Given the description of an element on the screen output the (x, y) to click on. 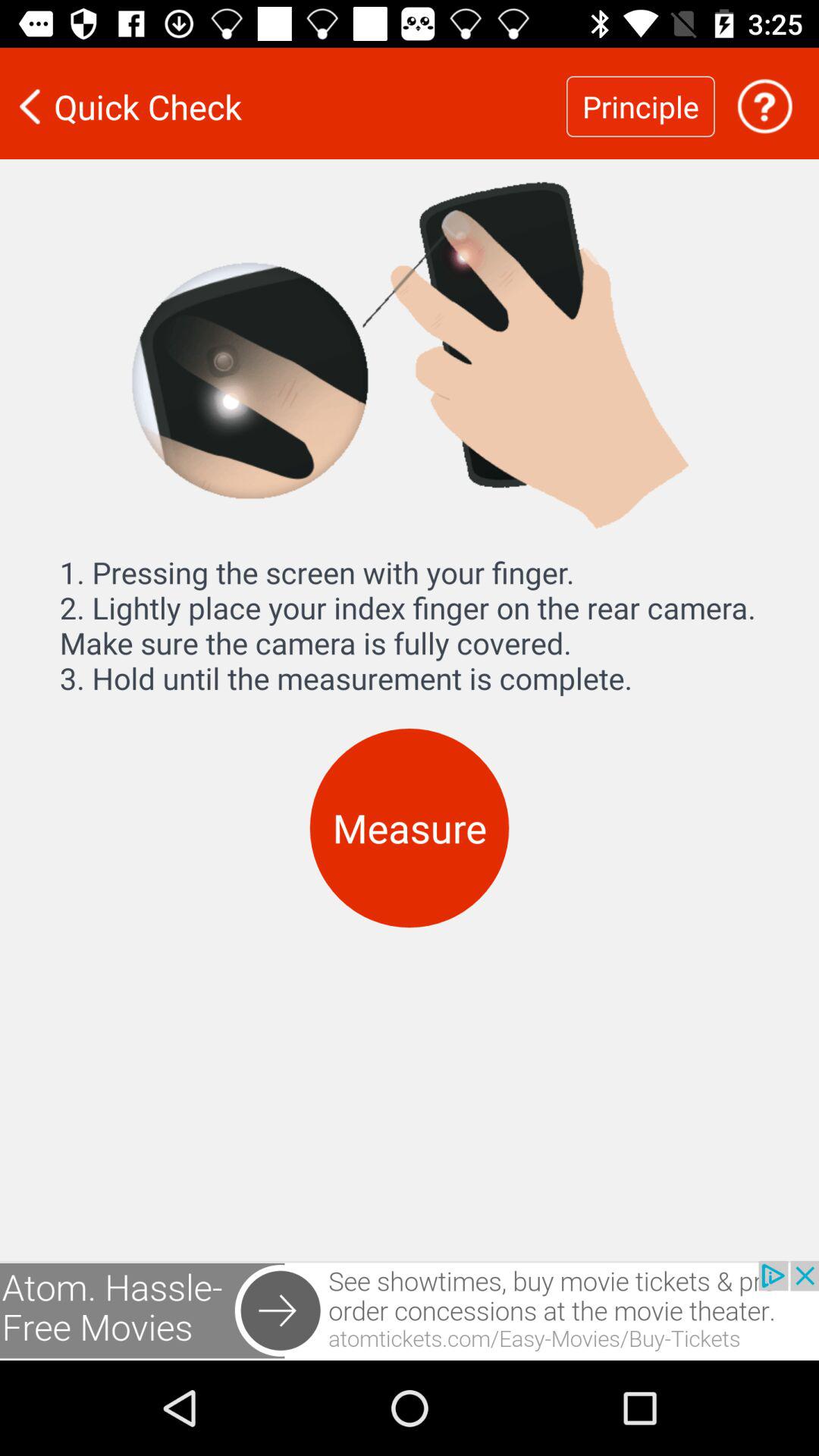
advertisement (409, 1310)
